Given the description of an element on the screen output the (x, y) to click on. 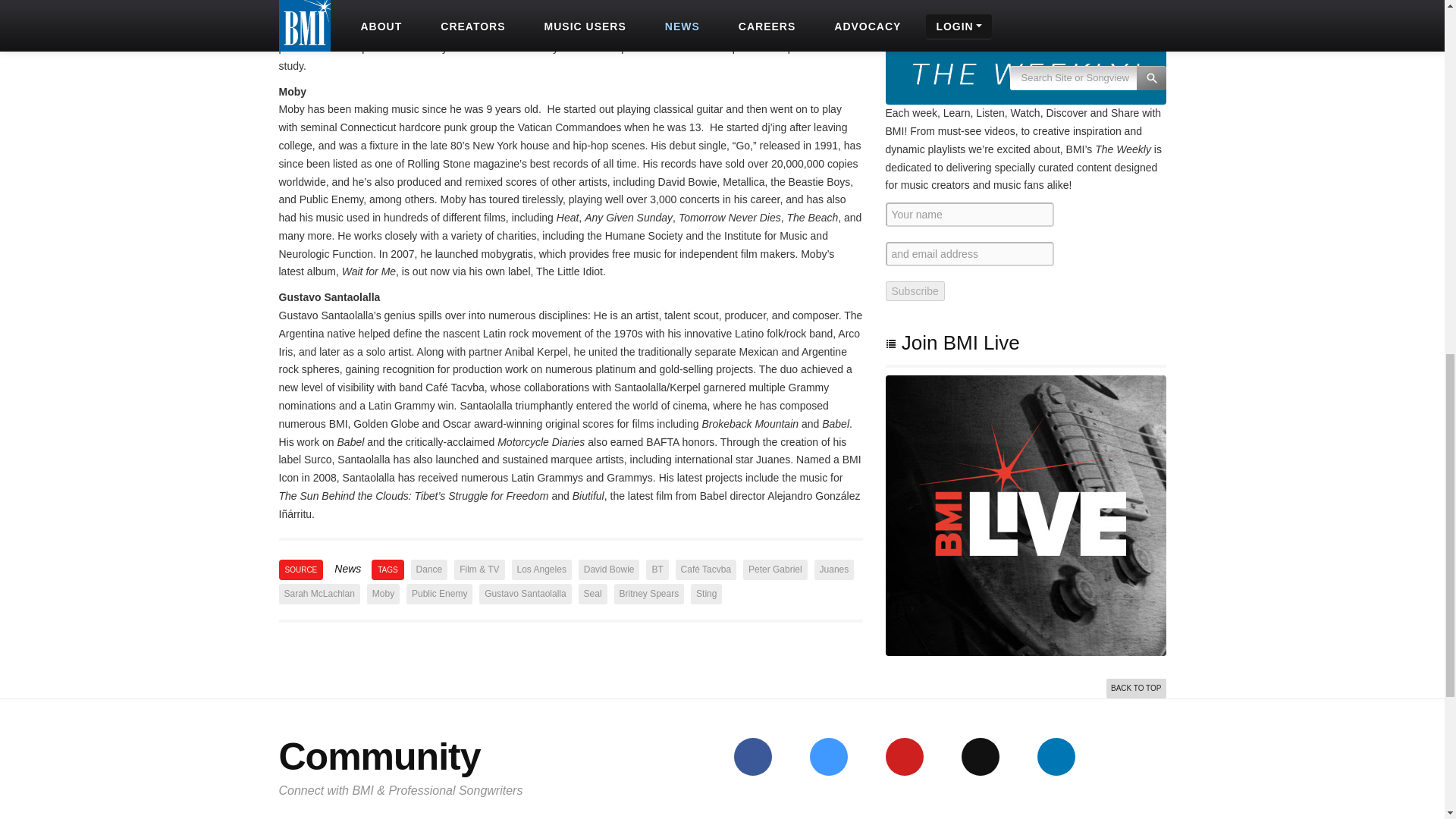
Visit BMI on Instagram (979, 756)
Visit BMI on LinkedIn (1055, 756)
Visit BMI on Twitter (828, 756)
Visit BMI on YouTube (904, 756)
Visit BMI on Facebook (752, 756)
